Given the description of an element on the screen output the (x, y) to click on. 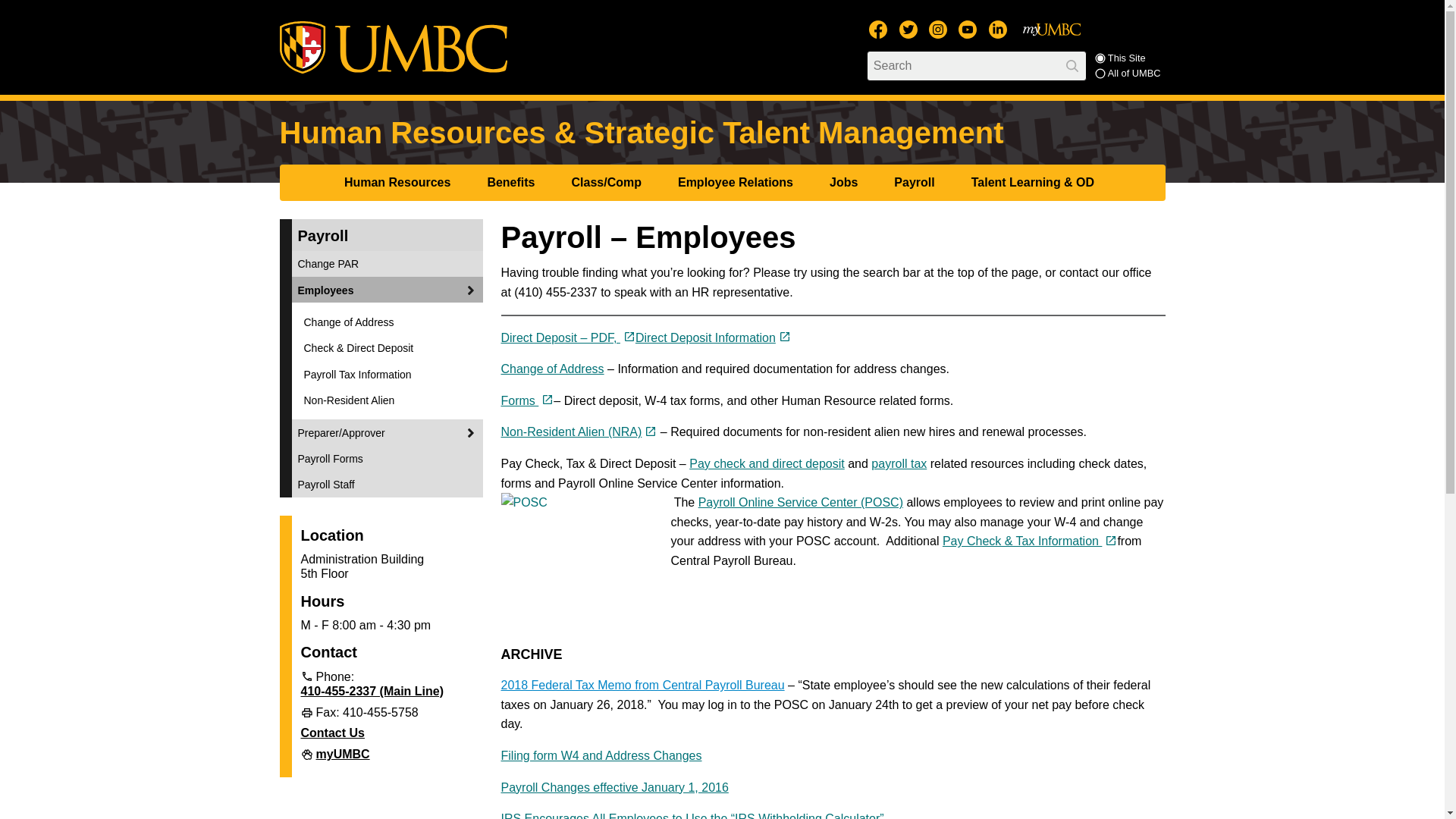
Payroll Forms (526, 400)
Human Resources (400, 182)
Change of Address (552, 368)
